Given the description of an element on the screen output the (x, y) to click on. 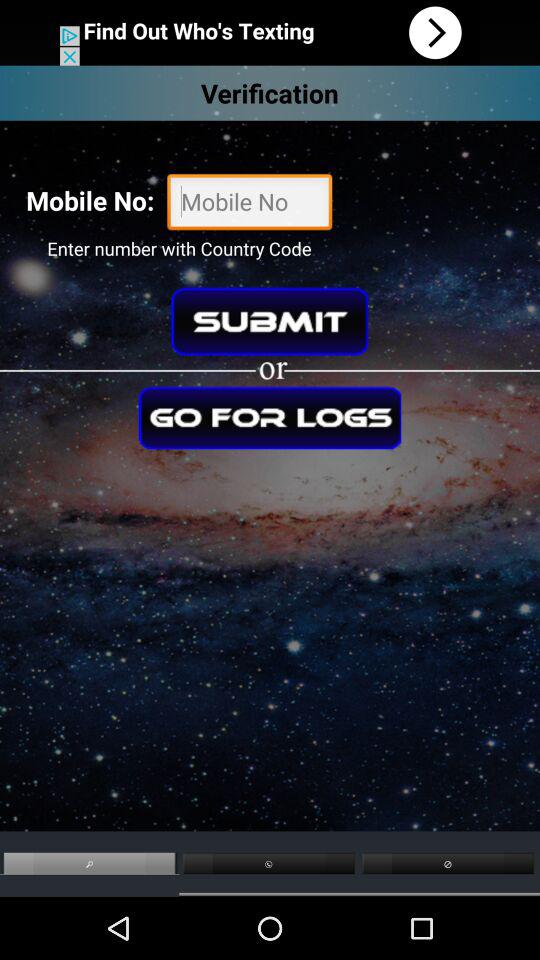
open list of logs (269, 417)
